Given the description of an element on the screen output the (x, y) to click on. 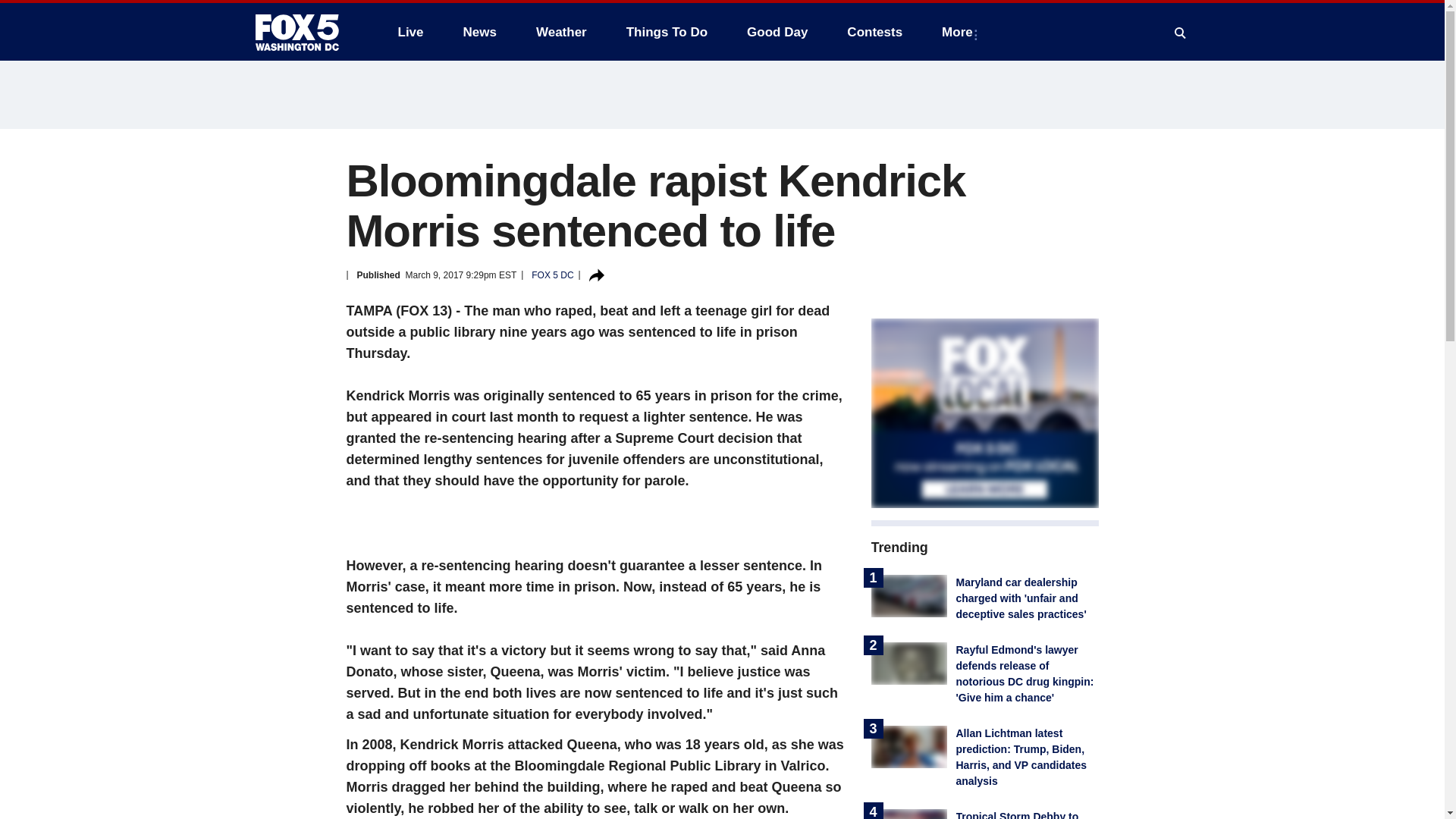
Things To Do (666, 32)
More (960, 32)
News (479, 32)
Contests (874, 32)
Weather (561, 32)
Good Day (777, 32)
Live (410, 32)
